Given the description of an element on the screen output the (x, y) to click on. 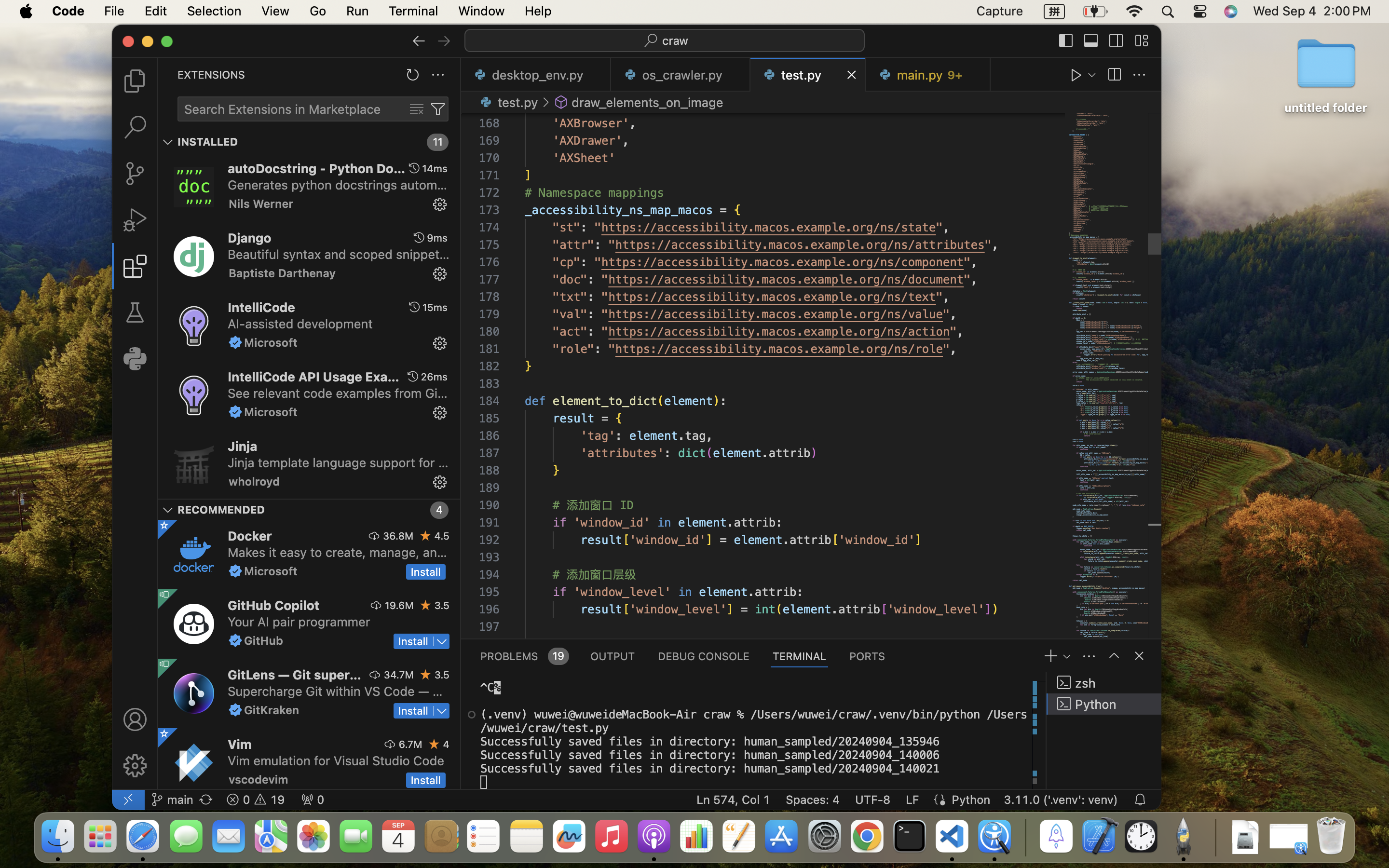
draw_elements_on_image Element type: AXGroup (647, 101)
 Element type: AXGroup (134, 80)
Django Element type: AXStaticText (249, 237)
Microsoft Element type: AXStaticText (271, 342)
IntelliCode API Usage Examples Element type: AXStaticText (313, 376)
